Given the description of an element on the screen output the (x, y) to click on. 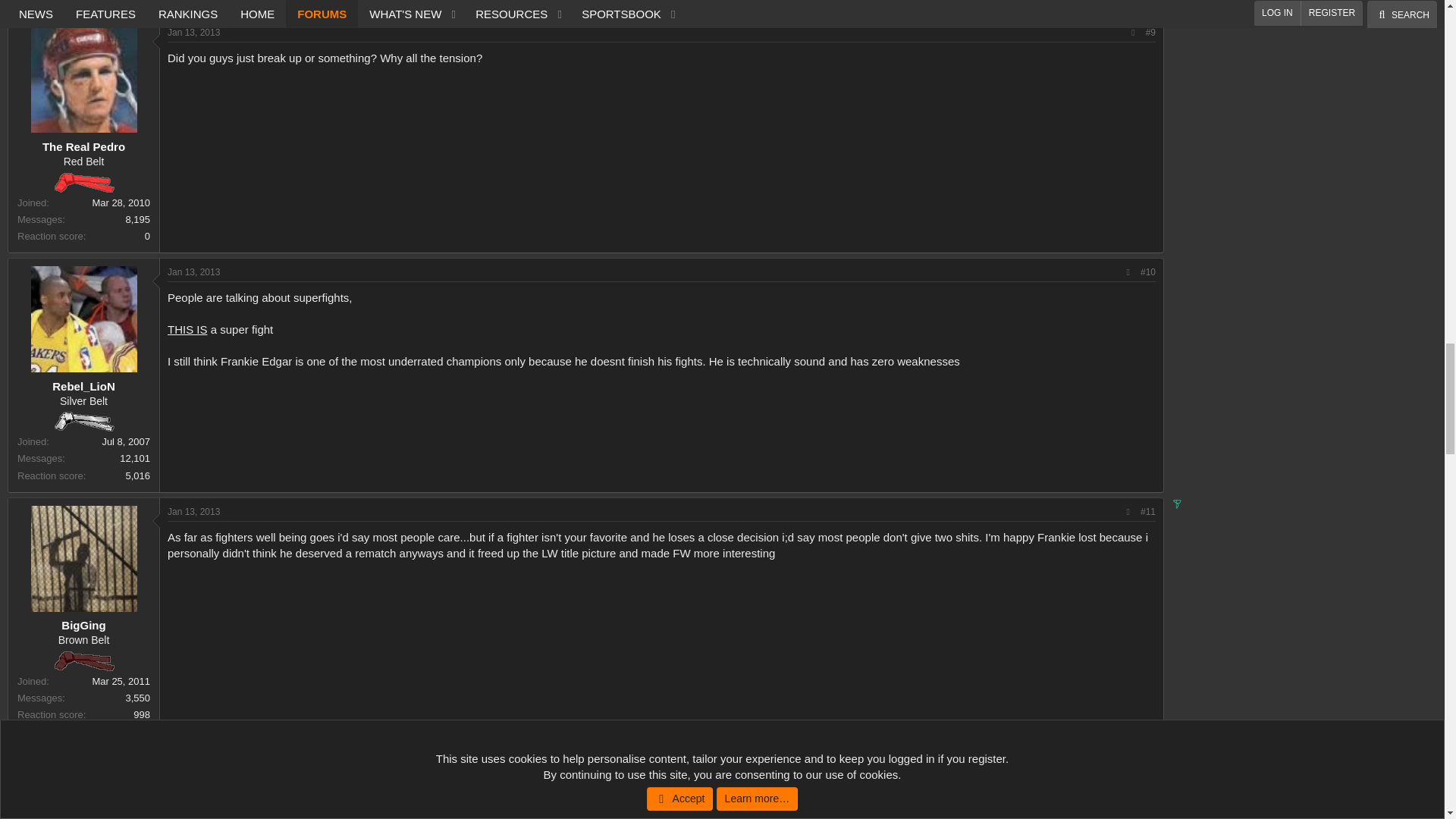
Jan 13, 2013 at 10:22 PM (193, 32)
Jan 13, 2013 at 10:23 PM (193, 511)
Jan 13, 2013 at 10:23 PM (193, 271)
